Given the description of an element on the screen output the (x, y) to click on. 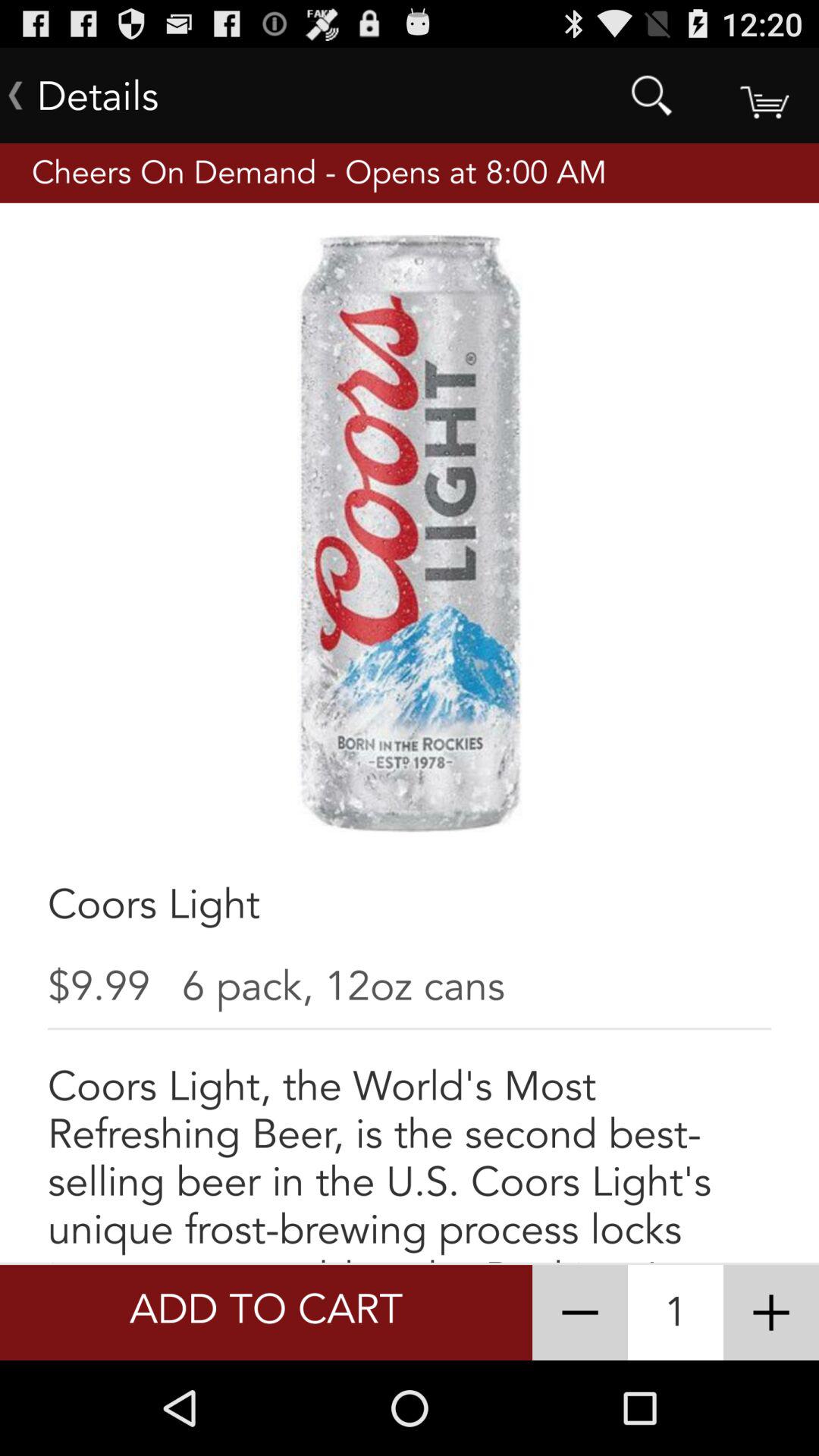
press add to cart item (266, 1312)
